Given the description of an element on the screen output the (x, y) to click on. 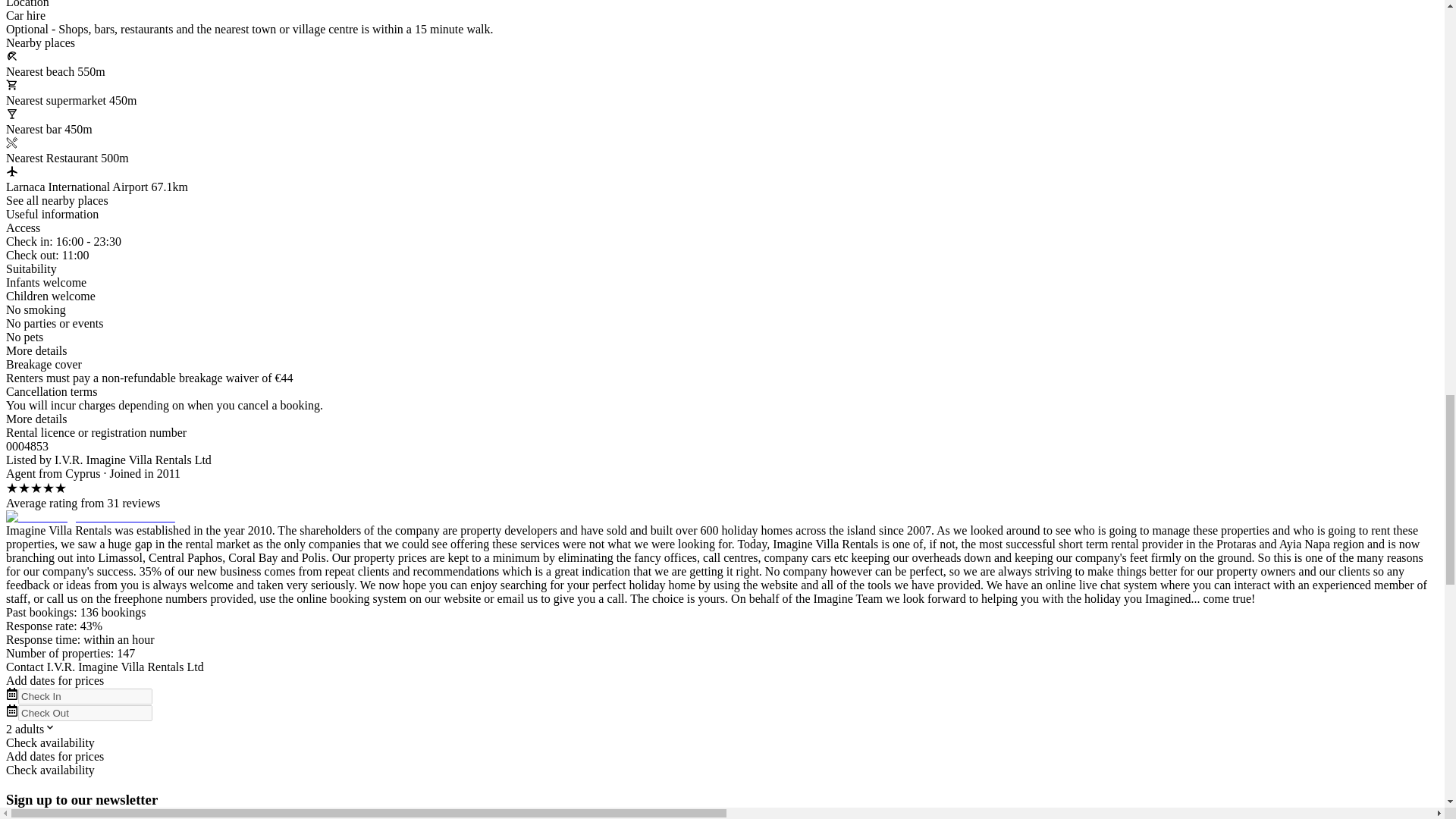
Check In (84, 696)
More details (35, 350)
Check Out (84, 713)
Contact I.V.R. Imagine Villa Rentals Ltd (104, 666)
More details (35, 418)
